Given the description of an element on the screen output the (x, y) to click on. 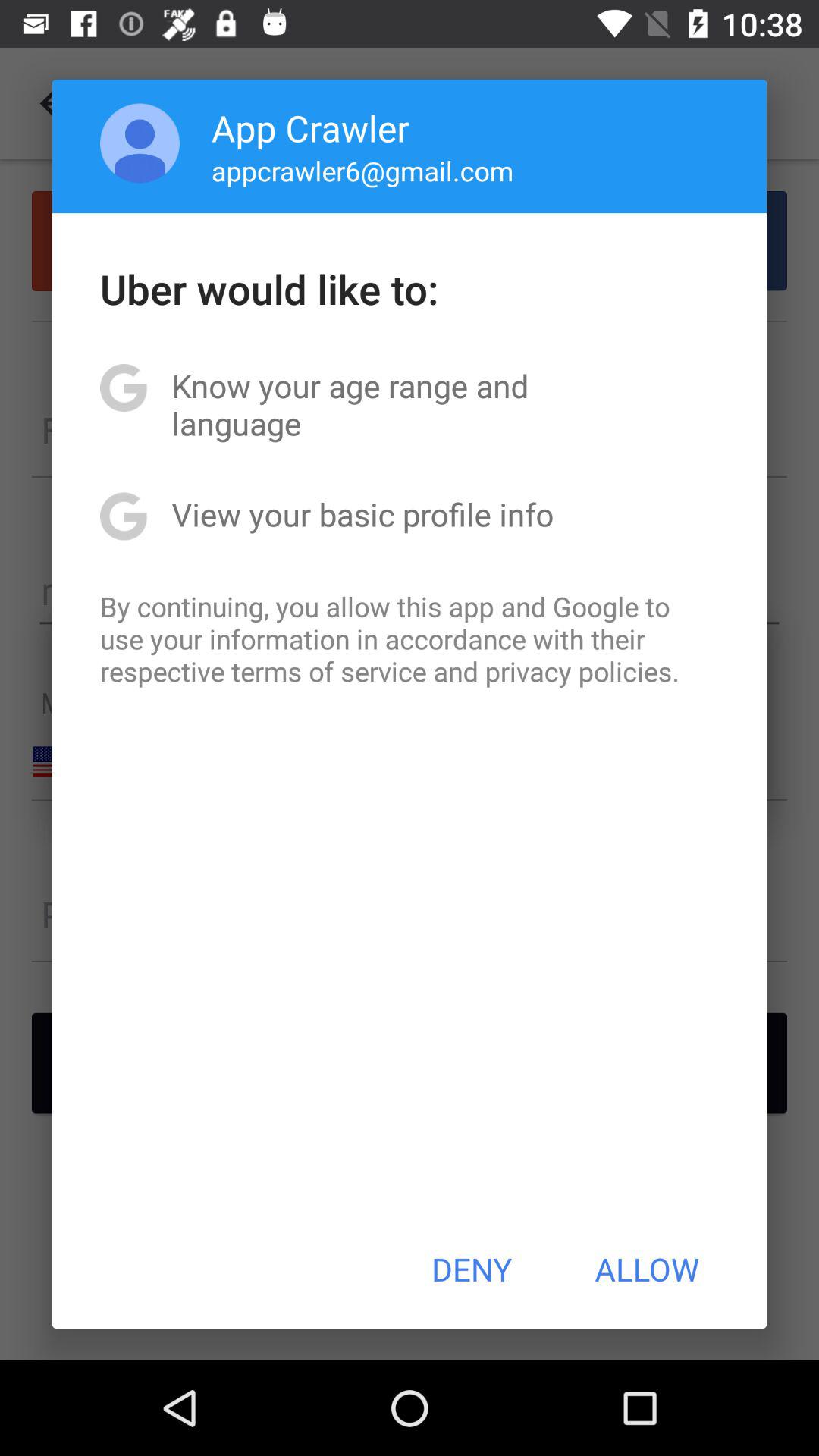
swipe to the app crawler (310, 127)
